Given the description of an element on the screen output the (x, y) to click on. 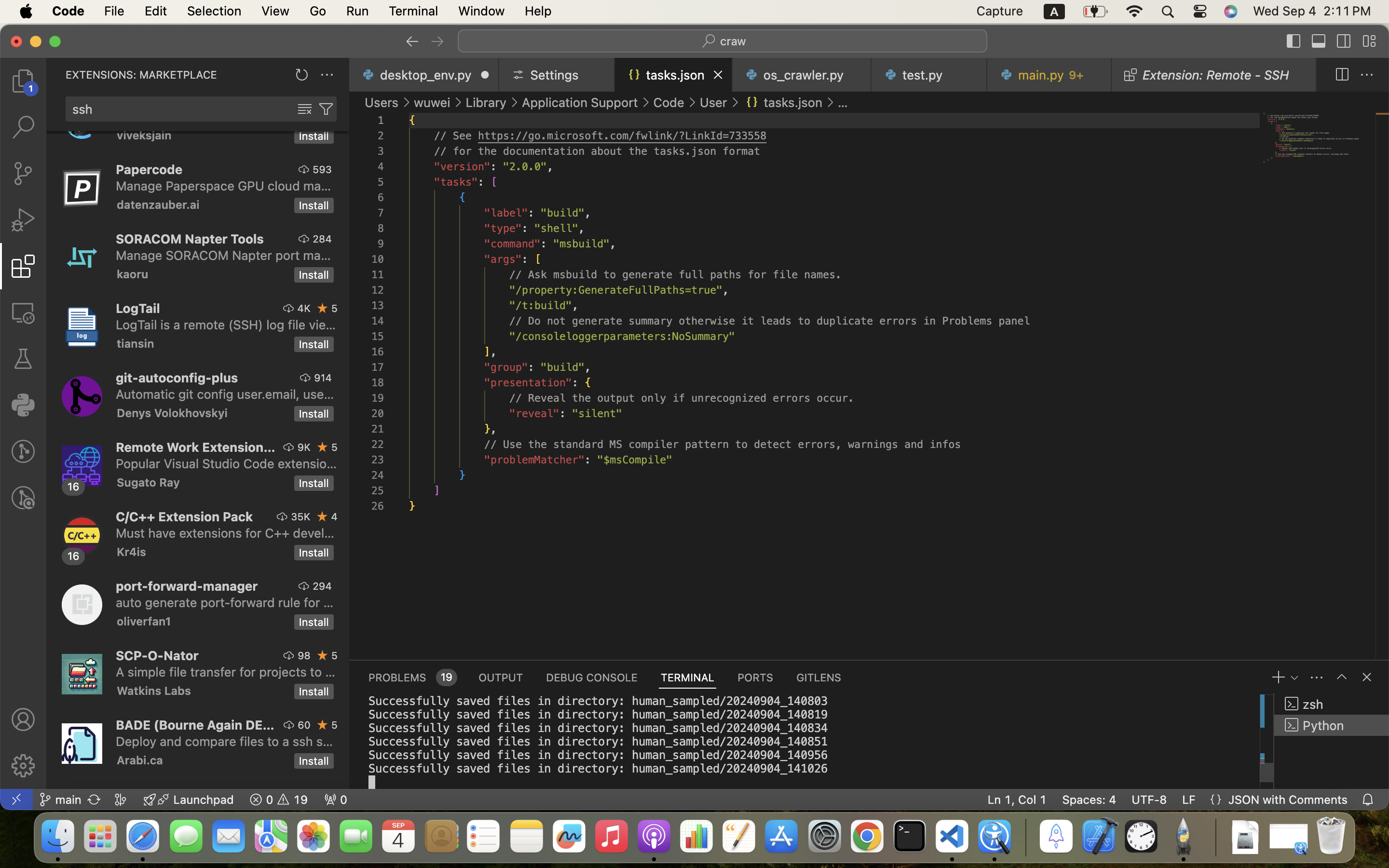
Sugato Ray Element type: AXStaticText (148, 481)
Application Support Element type: AXGroup (579, 101)
0 GITLENS Element type: AXRadioButton (819, 676)
0 Extension: Remote - SSH   Element type: AXRadioButton (1214, 74)
0  Element type: AXRadioButton (23, 80)
